Given the description of an element on the screen output the (x, y) to click on. 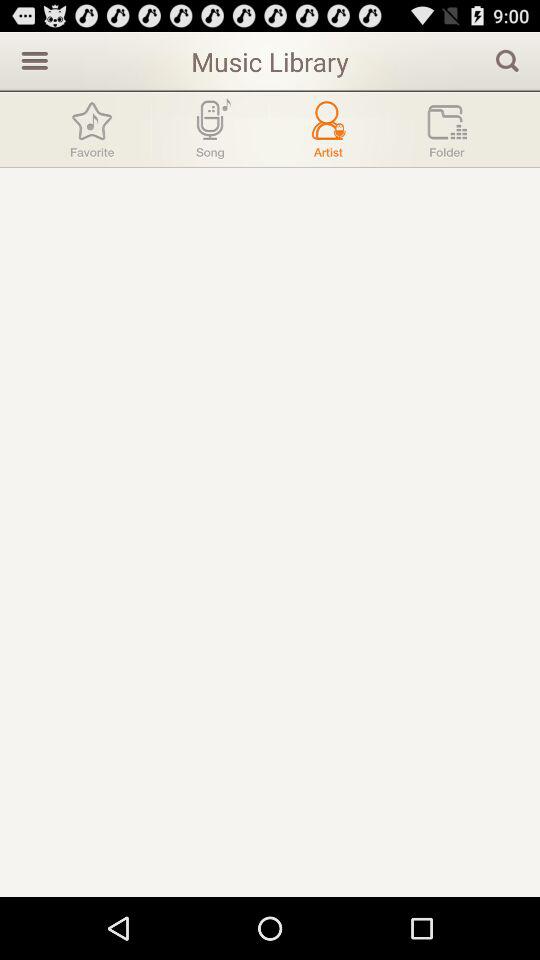
press icon next to music library icon (32, 60)
